Given the description of an element on the screen output the (x, y) to click on. 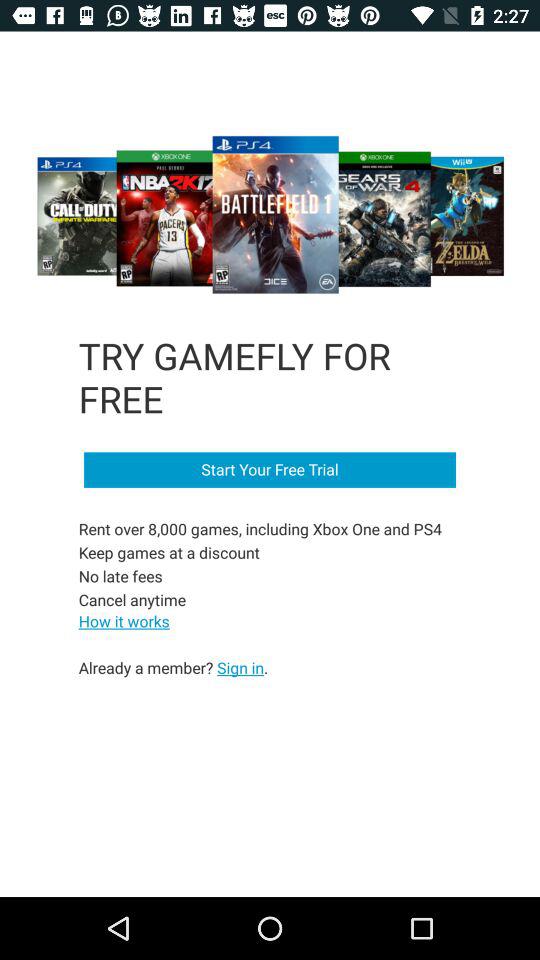
turn on item below start your free (262, 564)
